Given the description of an element on the screen output the (x, y) to click on. 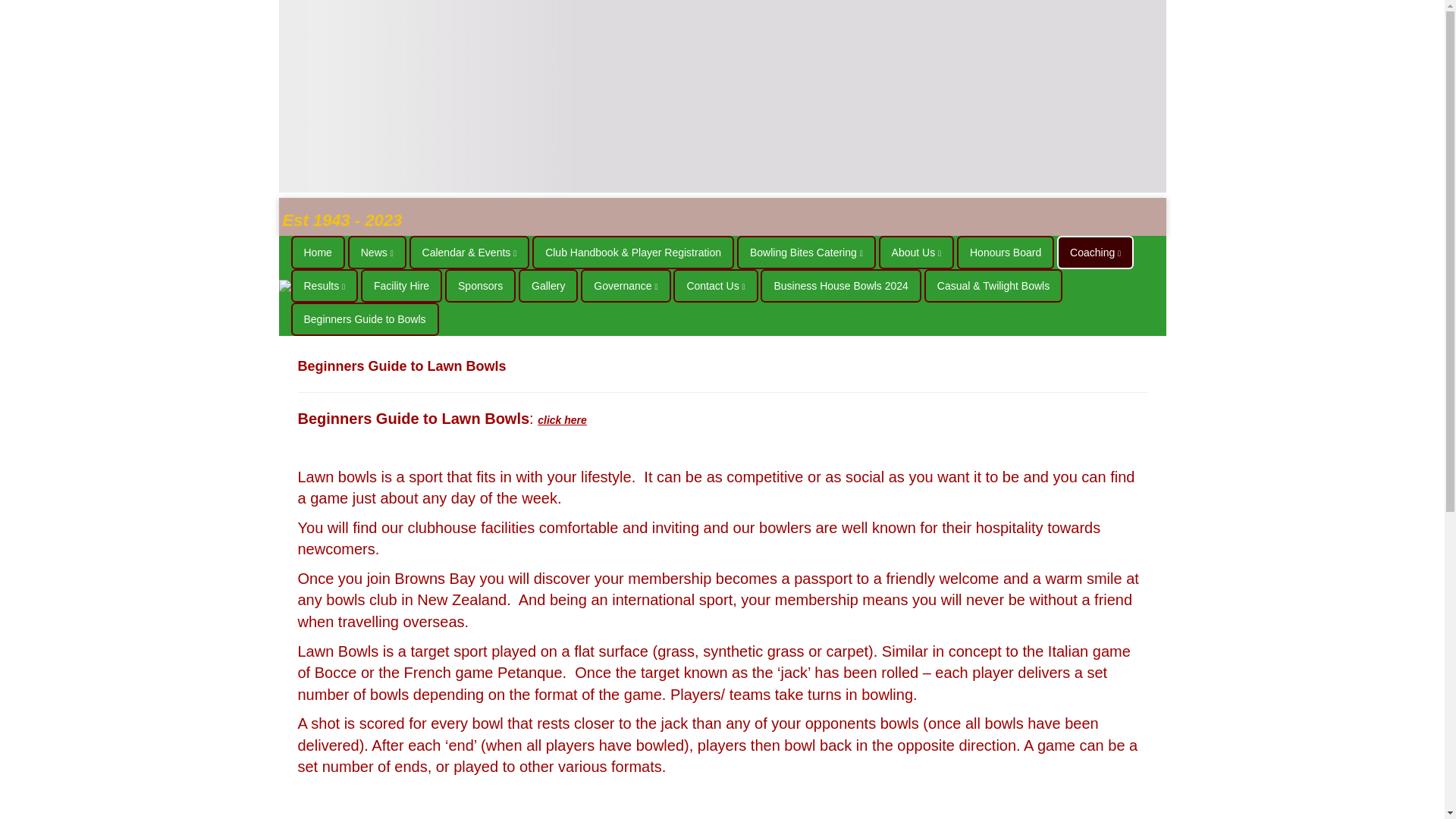
Bowling Bites Catering (806, 252)
Coaching (1095, 252)
Honours Board (1005, 252)
About Us (917, 252)
Home (318, 252)
News (376, 252)
